Given the description of an element on the screen output the (x, y) to click on. 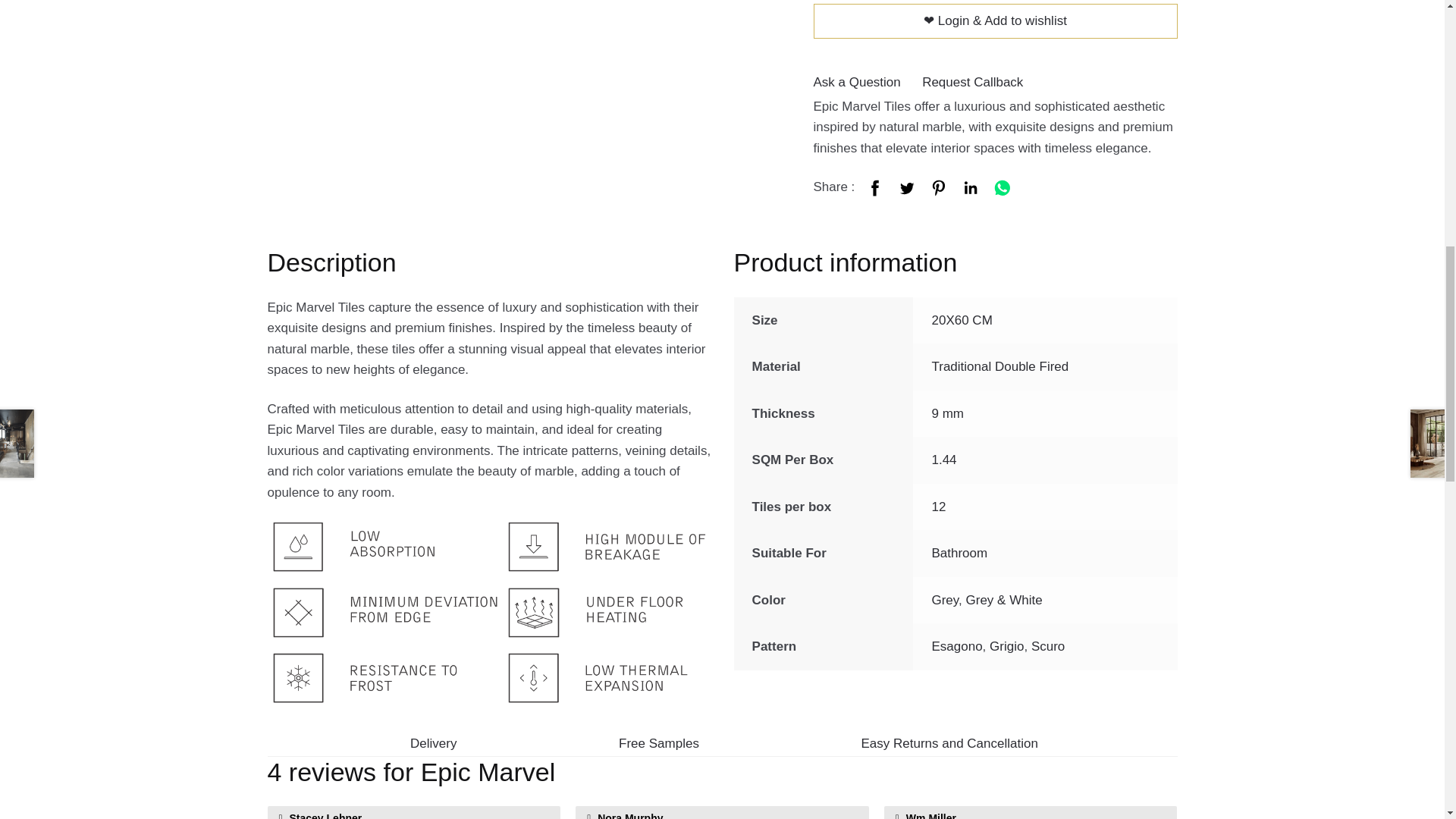
Ask a Question (855, 82)
Request Callback (972, 82)
